Given the description of an element on the screen output the (x, y) to click on. 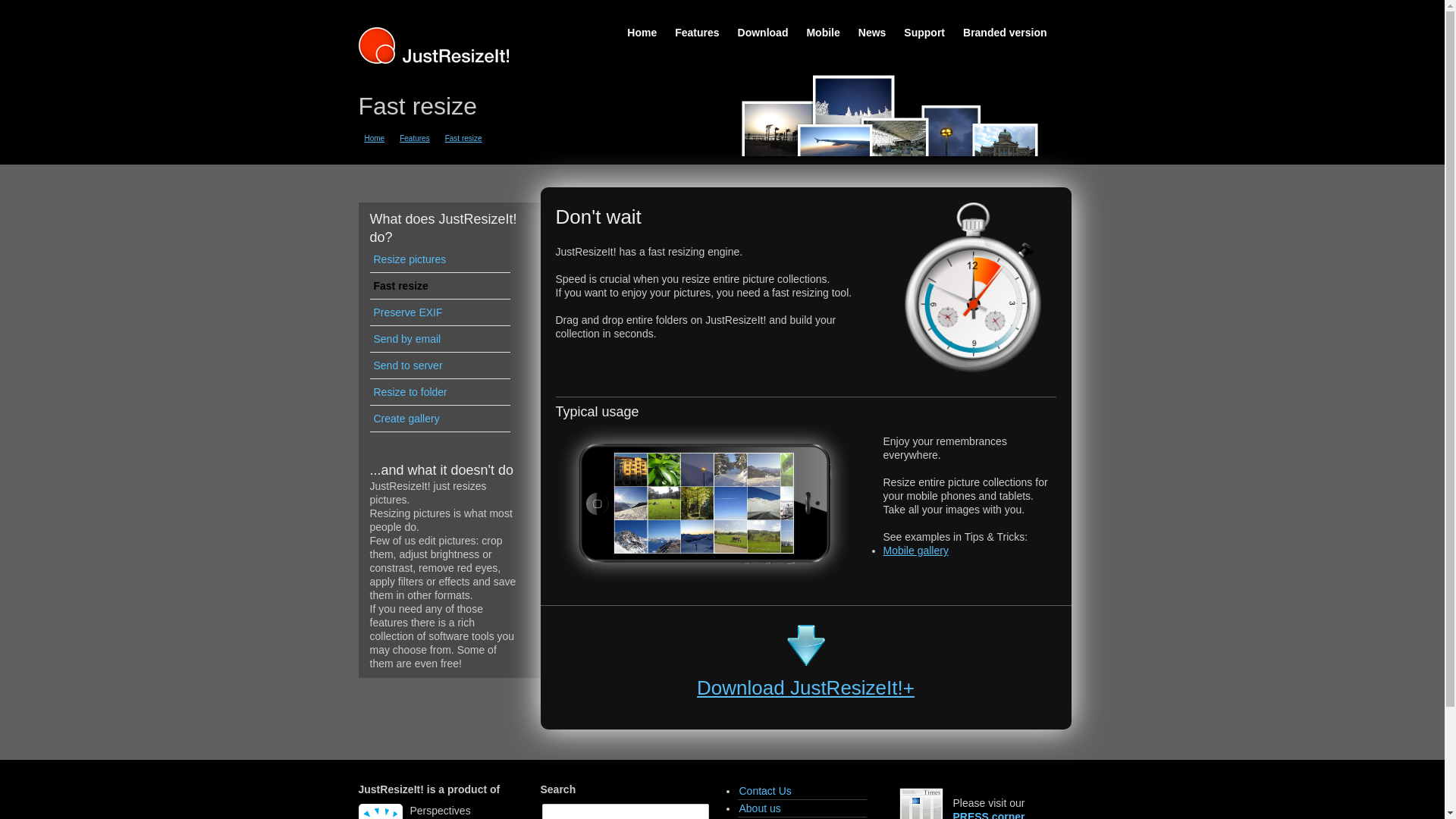
Fast resize (468, 138)
Mobile (822, 32)
Resize to folder (440, 392)
PRESS corner (988, 814)
Download (763, 32)
Features (418, 138)
Fast resize (440, 285)
About us (801, 808)
Resize pictures (440, 259)
Support (924, 32)
Home (641, 32)
Send by email (440, 338)
Download (806, 658)
Mobile gallery (914, 550)
Download (805, 687)
